Given the description of an element on the screen output the (x, y) to click on. 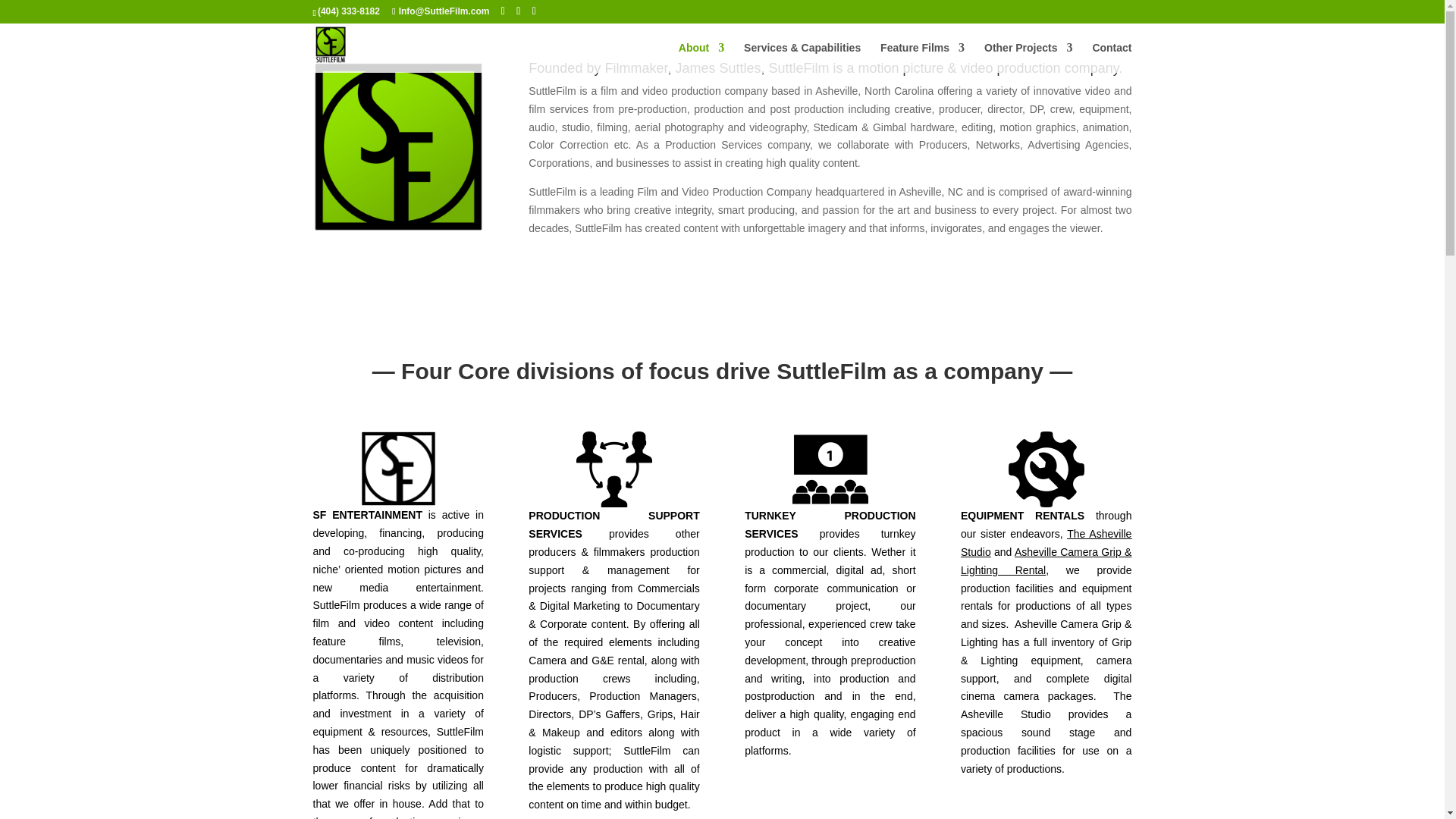
Other Projects (1027, 57)
Contact (1111, 57)
Feature Films (921, 57)
About (700, 57)
The Asheville Studio (1045, 542)
